Given the description of an element on the screen output the (x, y) to click on. 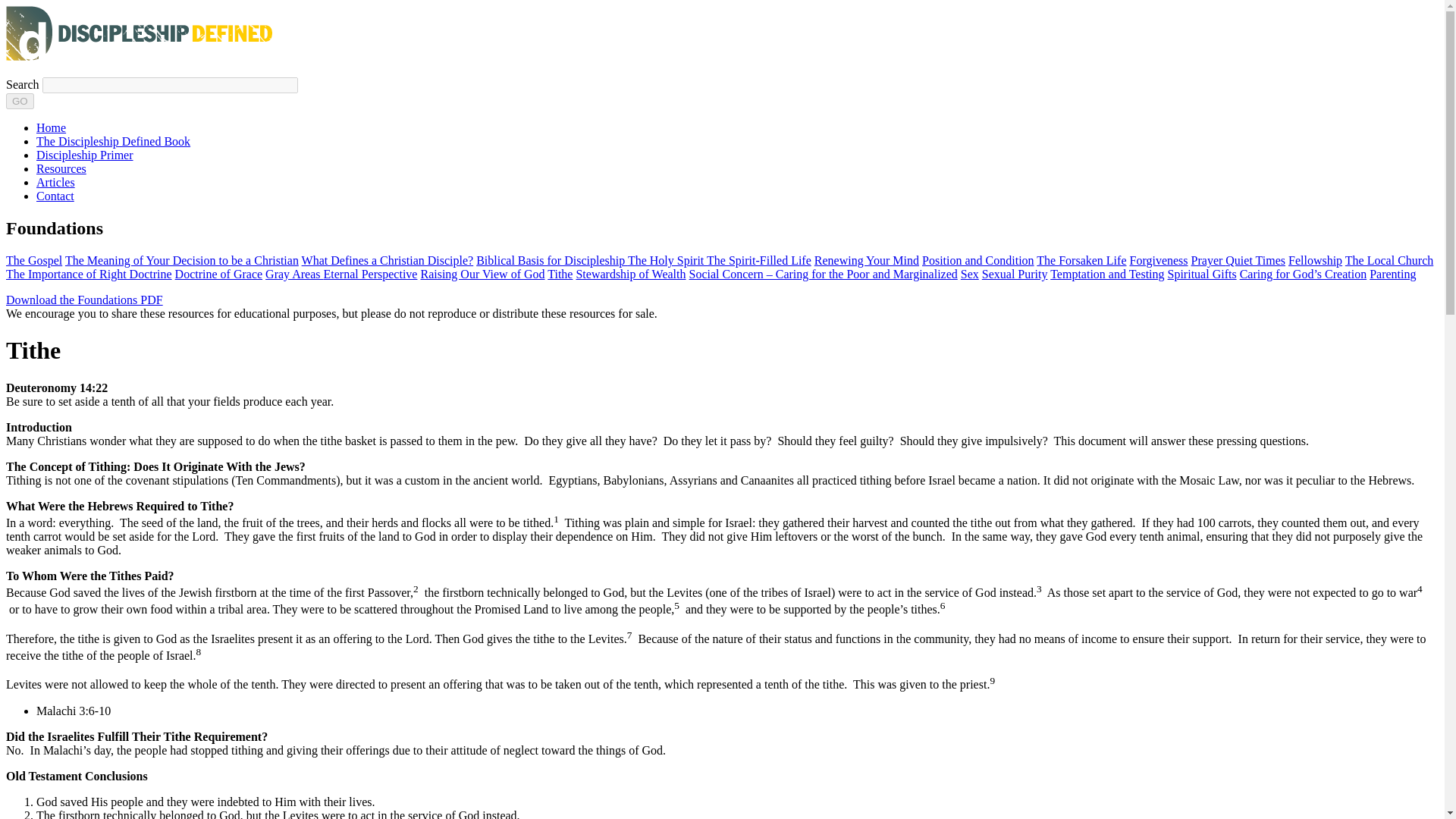
Home (50, 127)
Home (138, 56)
Sex (969, 273)
Raising Our View of God (482, 273)
Home (50, 127)
Renewing Your Mind (865, 259)
Prayer (1208, 259)
Contact (55, 195)
The Spirit-Filled Life (758, 259)
Contact (55, 195)
Doctrine of Grace (218, 273)
Parenting (1392, 273)
Discipleship Primer (84, 154)
Enter the terms you wish to search for. (170, 84)
Resources (60, 168)
